Given the description of an element on the screen output the (x, y) to click on. 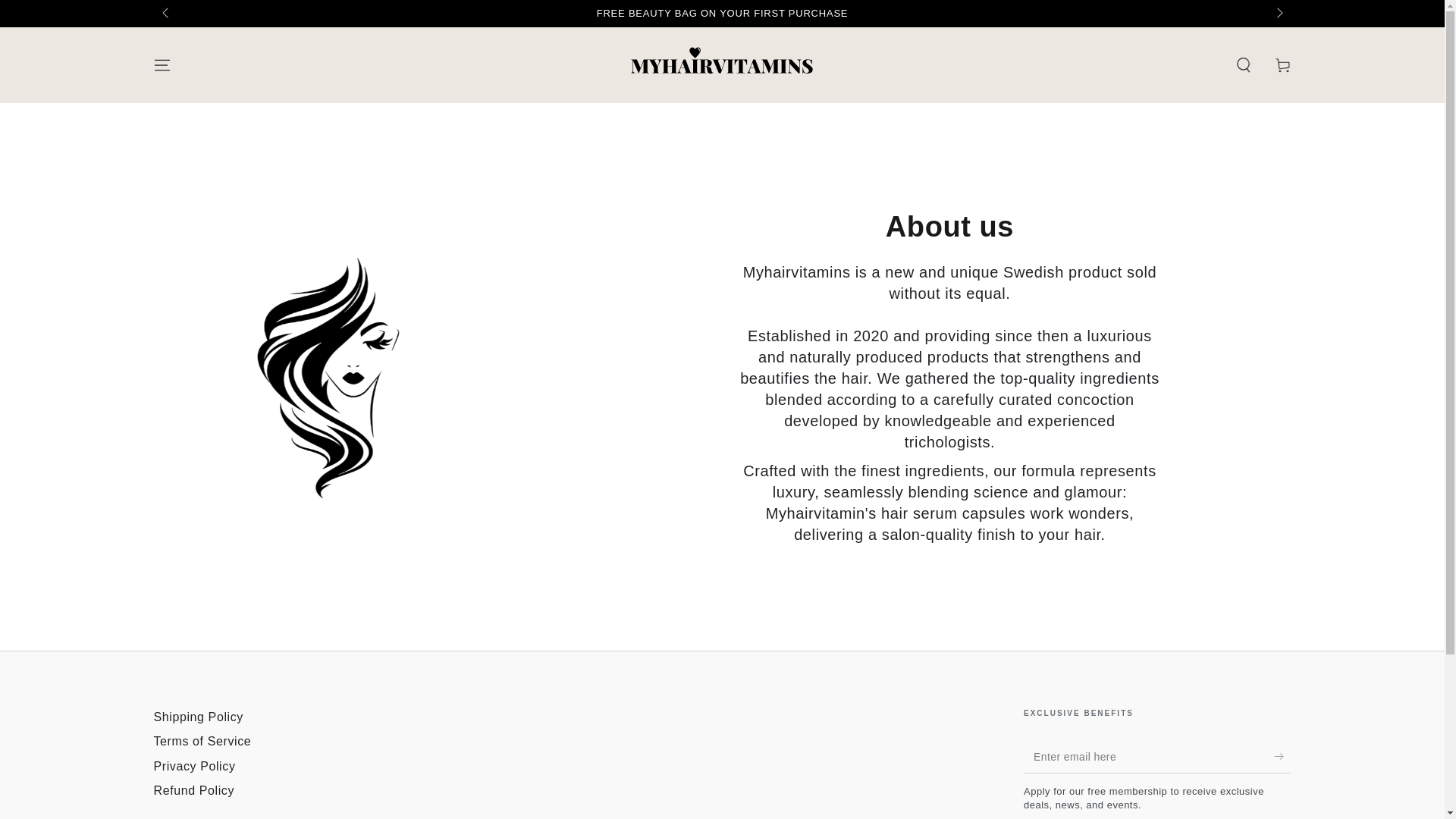
SKIP TO CONTENT (67, 14)
Privacy Policy (193, 766)
Shipping Policy (197, 716)
Terms of Service (201, 740)
Refund Policy (193, 789)
